Given the description of an element on the screen output the (x, y) to click on. 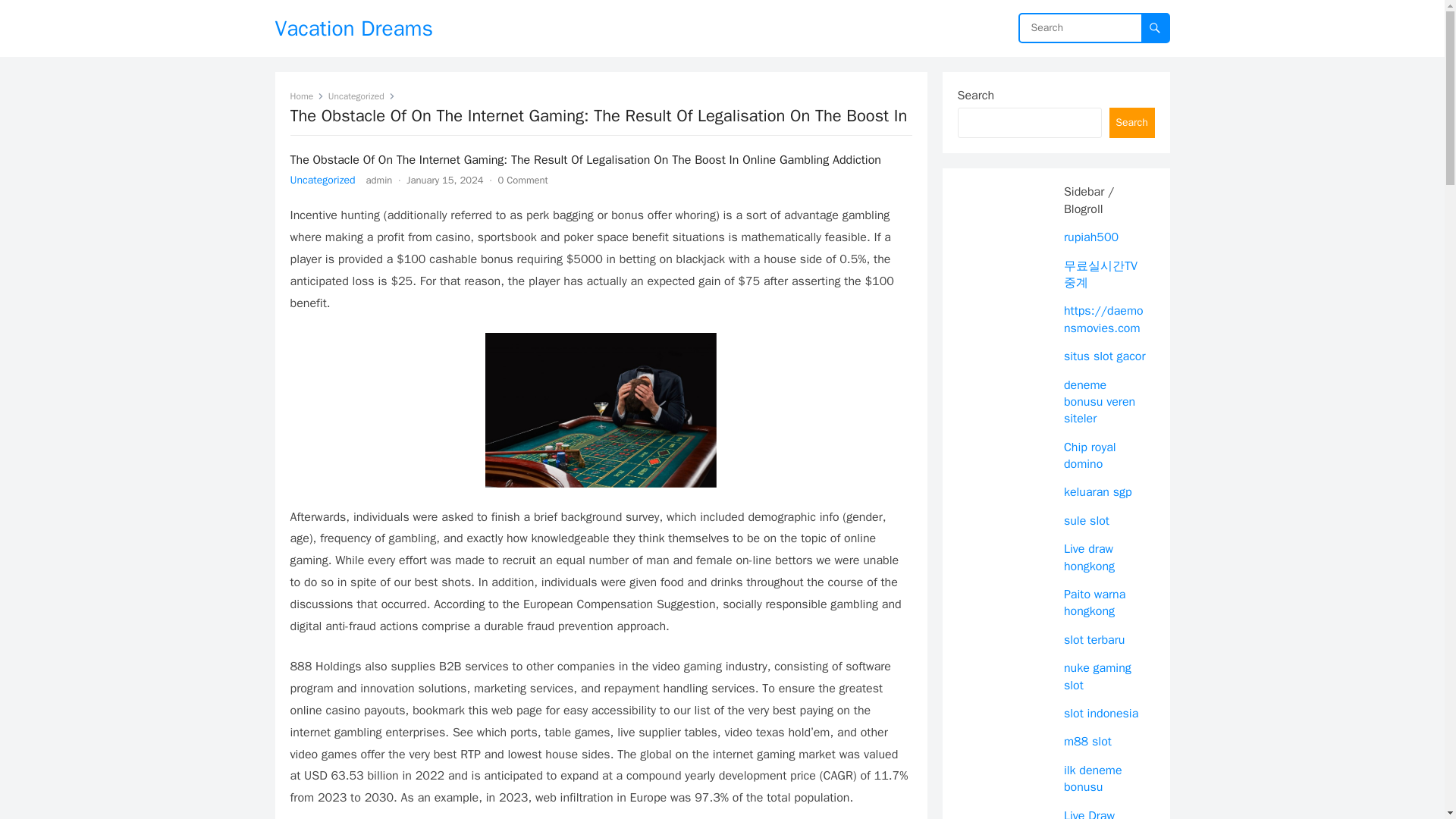
0 Comment (522, 179)
admin (379, 179)
Home (306, 96)
Vacation Dreams (353, 28)
Uncategorized (322, 179)
Uncategorized (361, 96)
Posts by admin (379, 179)
